Given the description of an element on the screen output the (x, y) to click on. 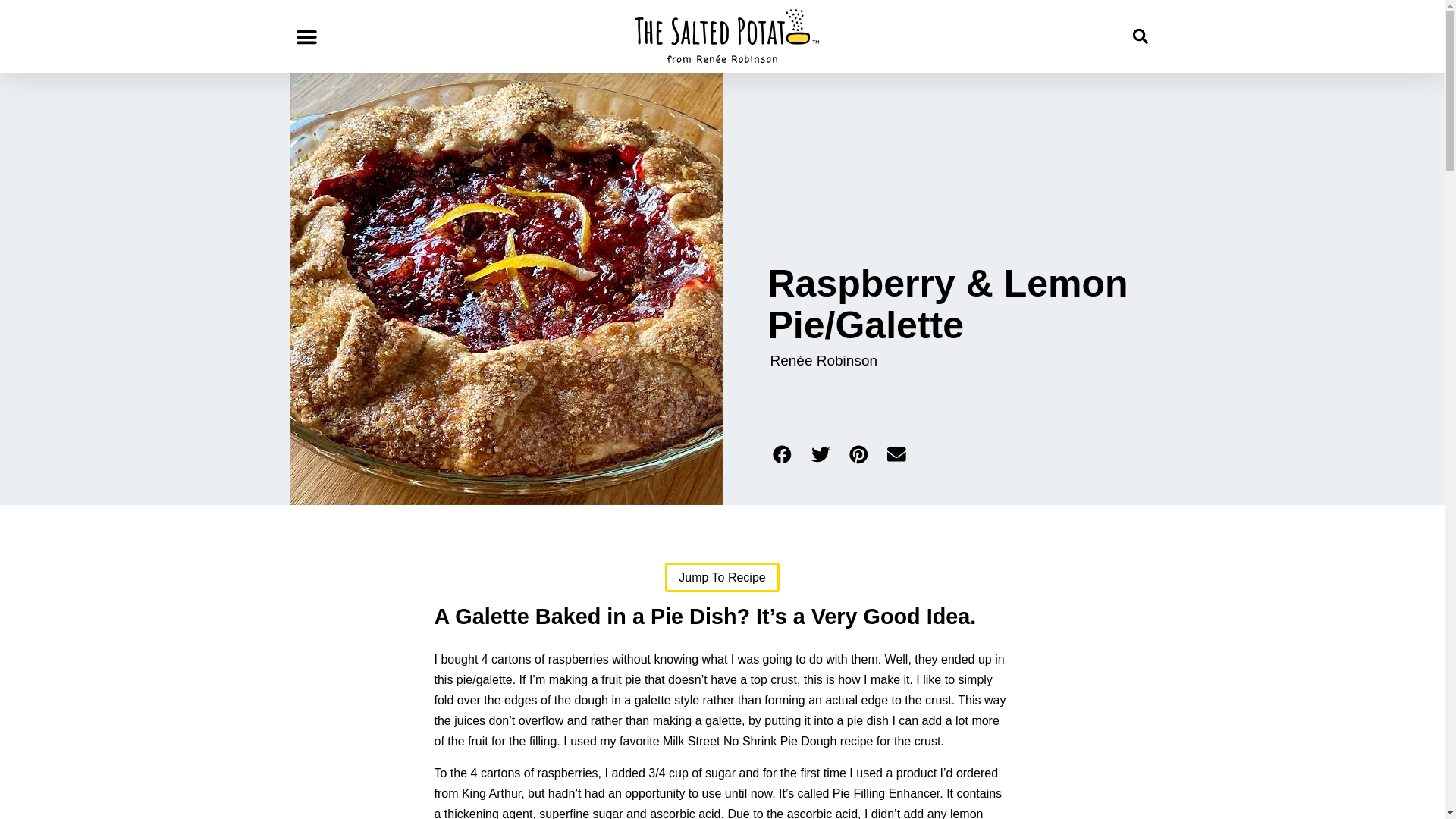
Jump To Recipe (721, 577)
